Given the description of an element on the screen output the (x, y) to click on. 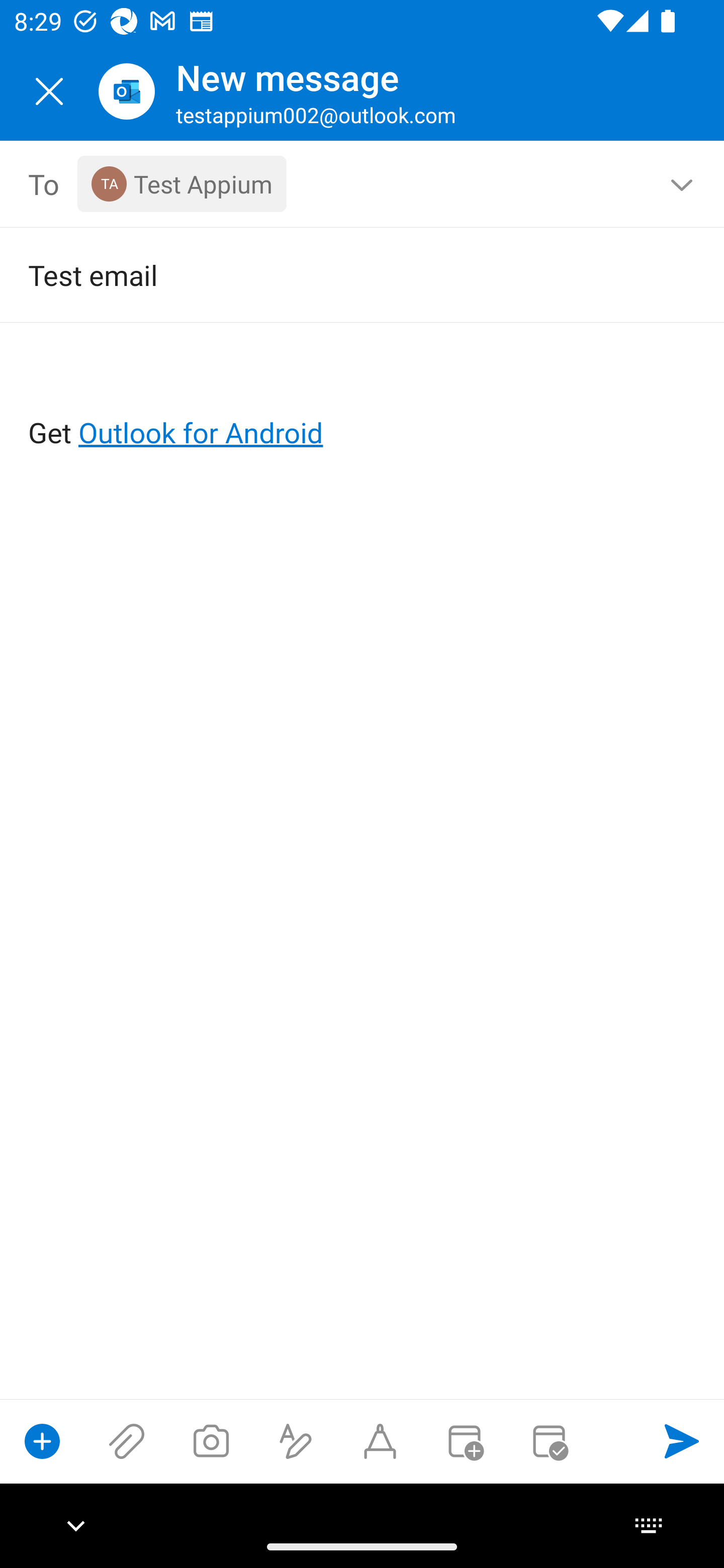
Close (49, 91)
Test email (333, 274)


Get Outlook for Android (363, 400)
Show compose options (42, 1440)
Attach files (126, 1440)
Take a photo (210, 1440)
Show formatting options (295, 1440)
Start Ink compose (380, 1440)
Convert to event (464, 1440)
Send availability (548, 1440)
Send (681, 1440)
